Given the description of an element on the screen output the (x, y) to click on. 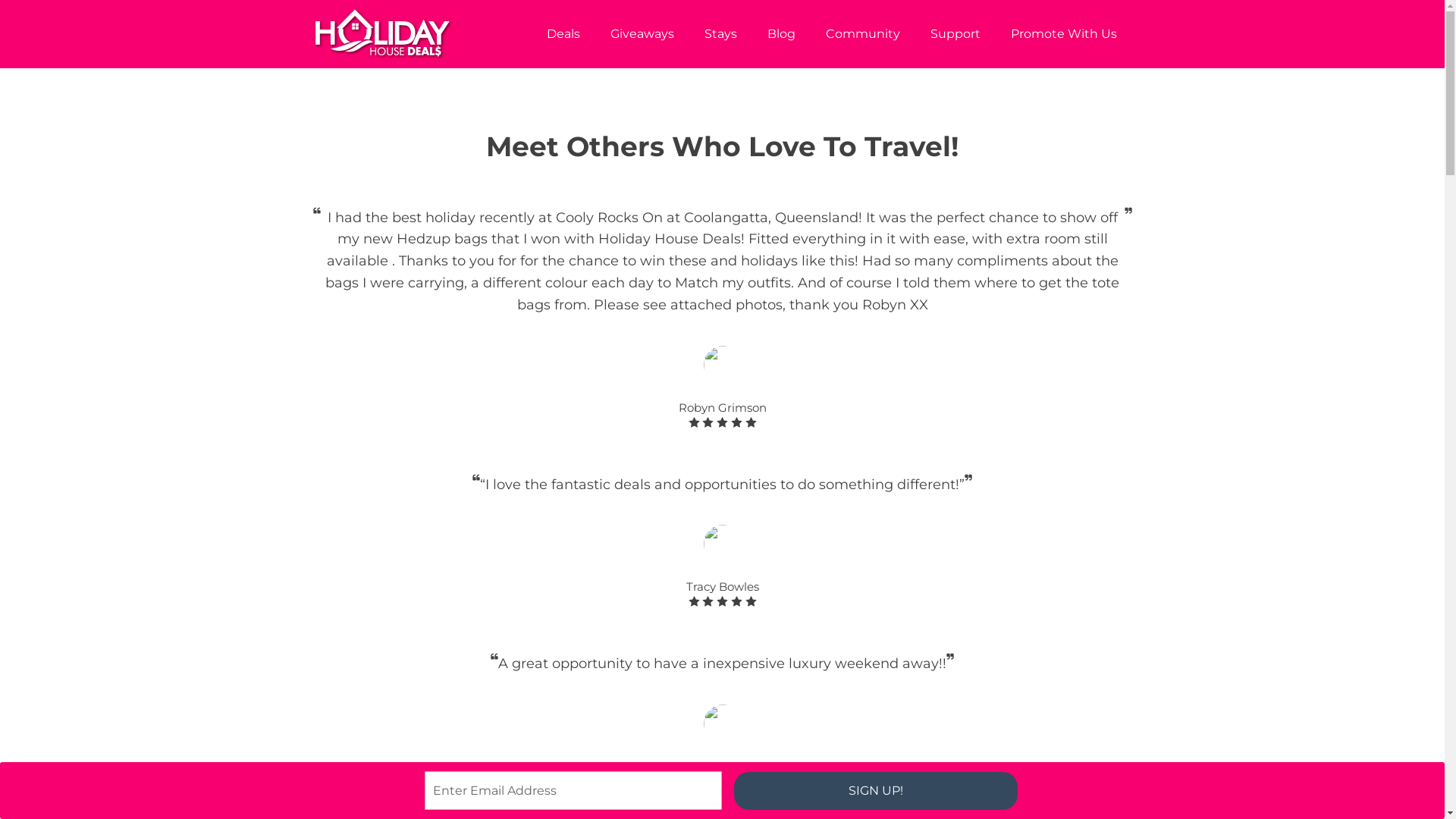
Support Element type: text (954, 34)
Deals Element type: text (562, 34)
Community Element type: text (861, 34)
Giveaways Element type: text (641, 34)
Promote With Us Element type: text (1062, 34)
Blog Element type: text (781, 34)
Stays Element type: text (719, 34)
SIGN UP! Element type: text (875, 790)
